Given the description of an element on the screen output the (x, y) to click on. 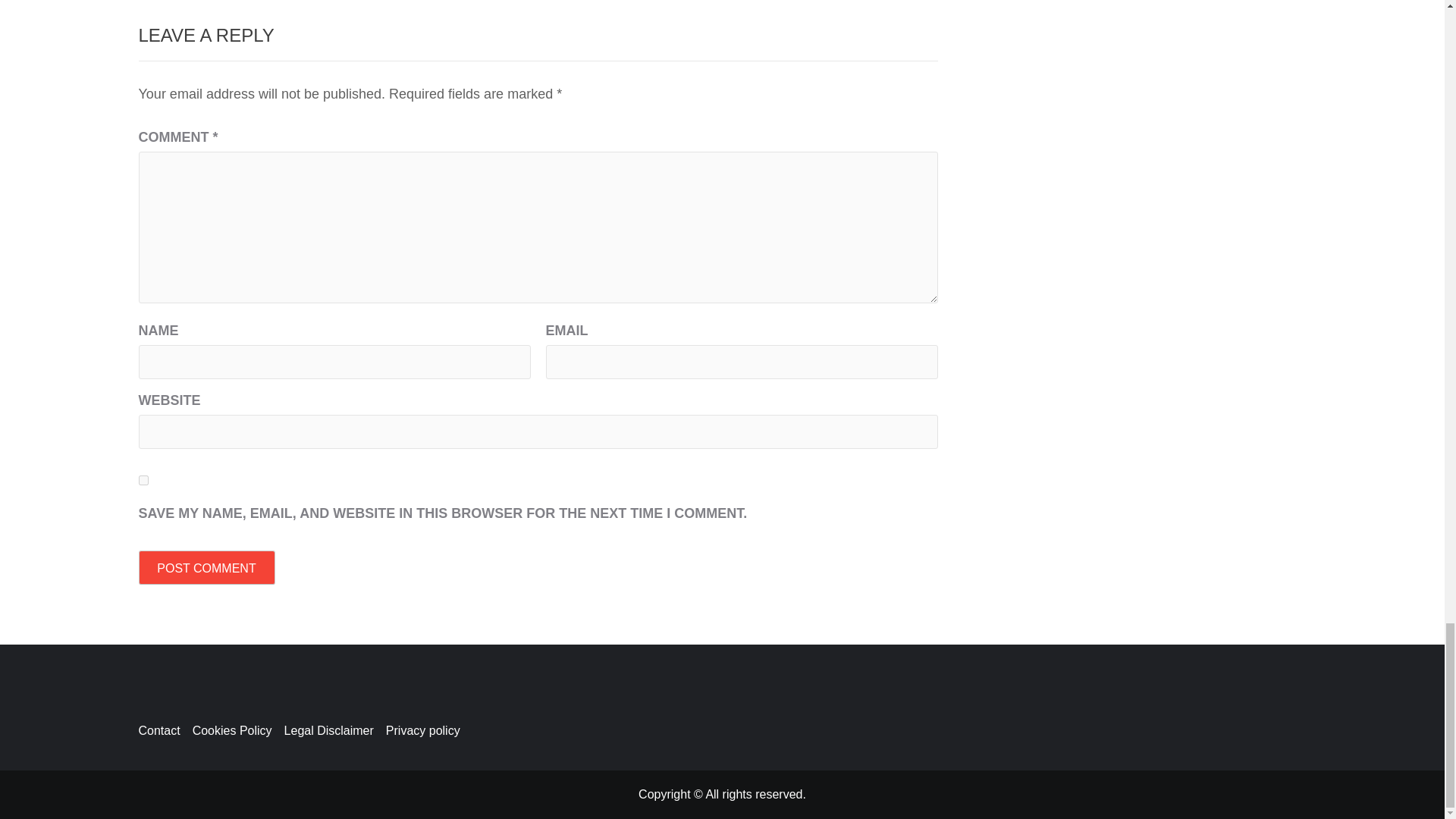
Post Comment (206, 567)
Post Comment (206, 567)
